Given the description of an element on the screen output the (x, y) to click on. 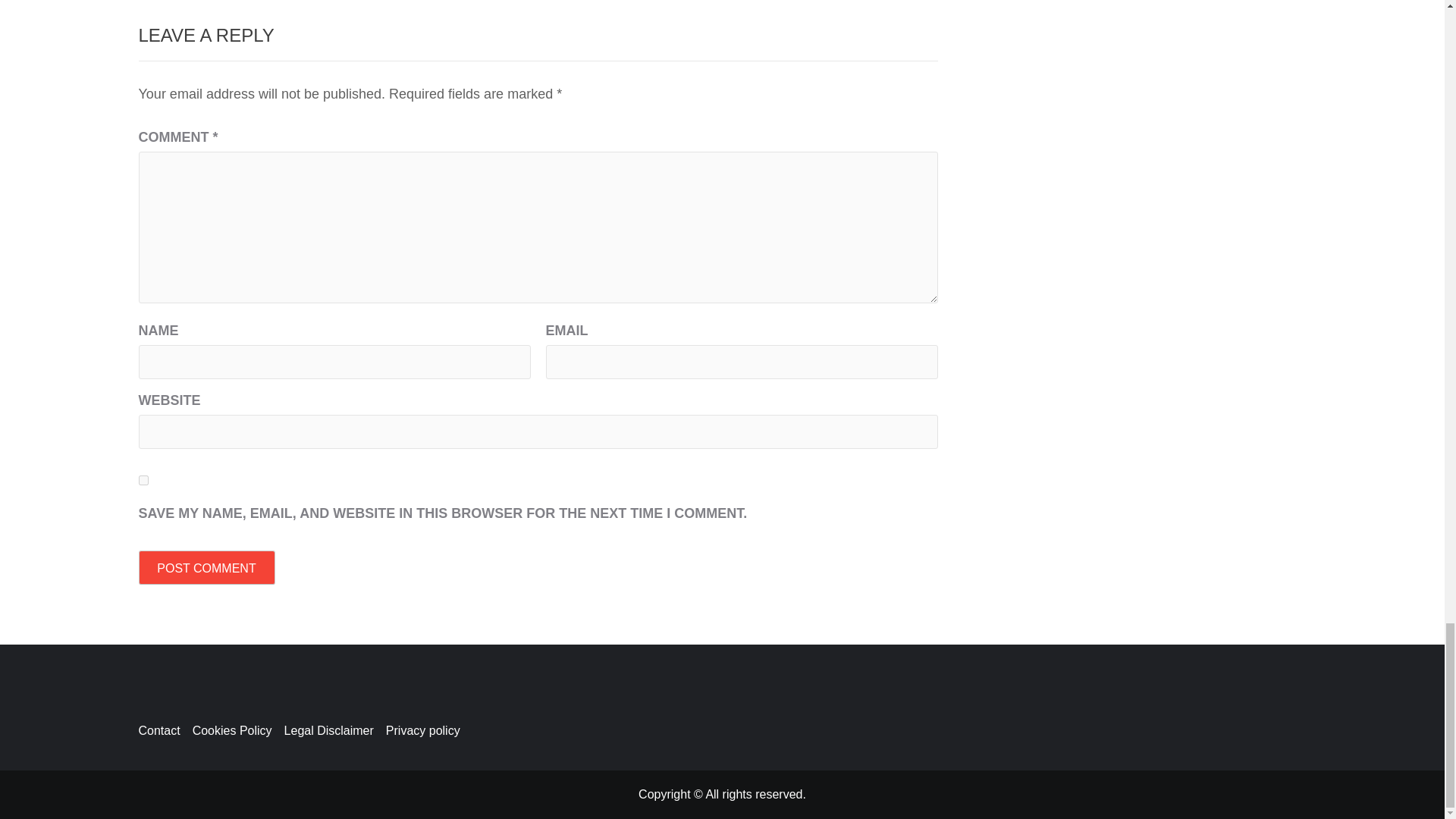
Post Comment (206, 567)
Post Comment (206, 567)
